Given the description of an element on the screen output the (x, y) to click on. 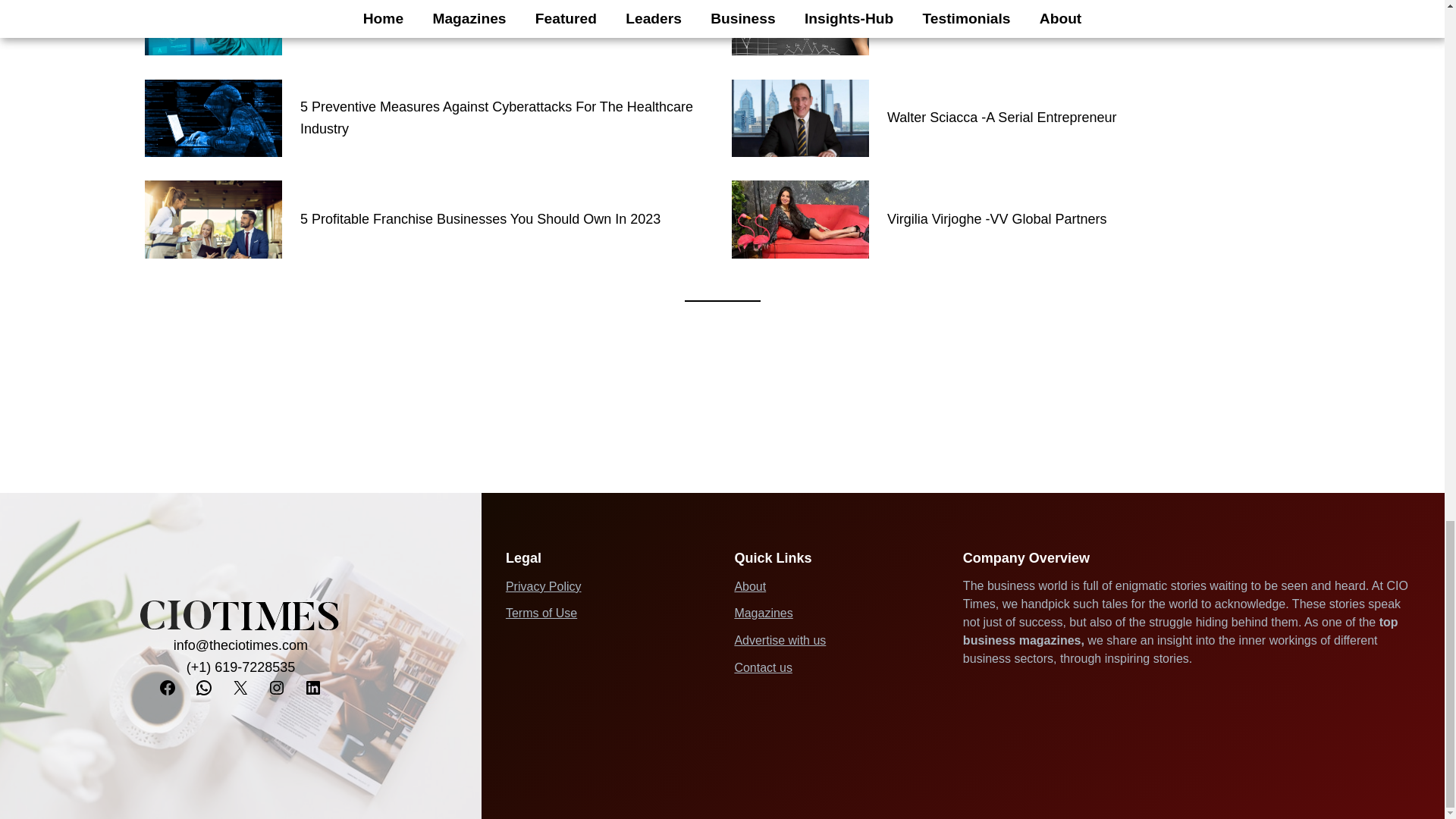
Walter Sciacca -A Serial Entrepreneur (1001, 117)
Instagram (276, 687)
Contact us (762, 667)
Advertise with us (779, 640)
Terms of Use (540, 612)
Facebook (167, 687)
X (239, 687)
Virgilia Virjoghe -VV Global Partners (996, 219)
5 Profitable Franchise Businesses You Should Own In 2023 (480, 219)
Magazines (762, 612)
WhatsApp (203, 687)
About (749, 585)
Privacy Policy (542, 585)
